Given the description of an element on the screen output the (x, y) to click on. 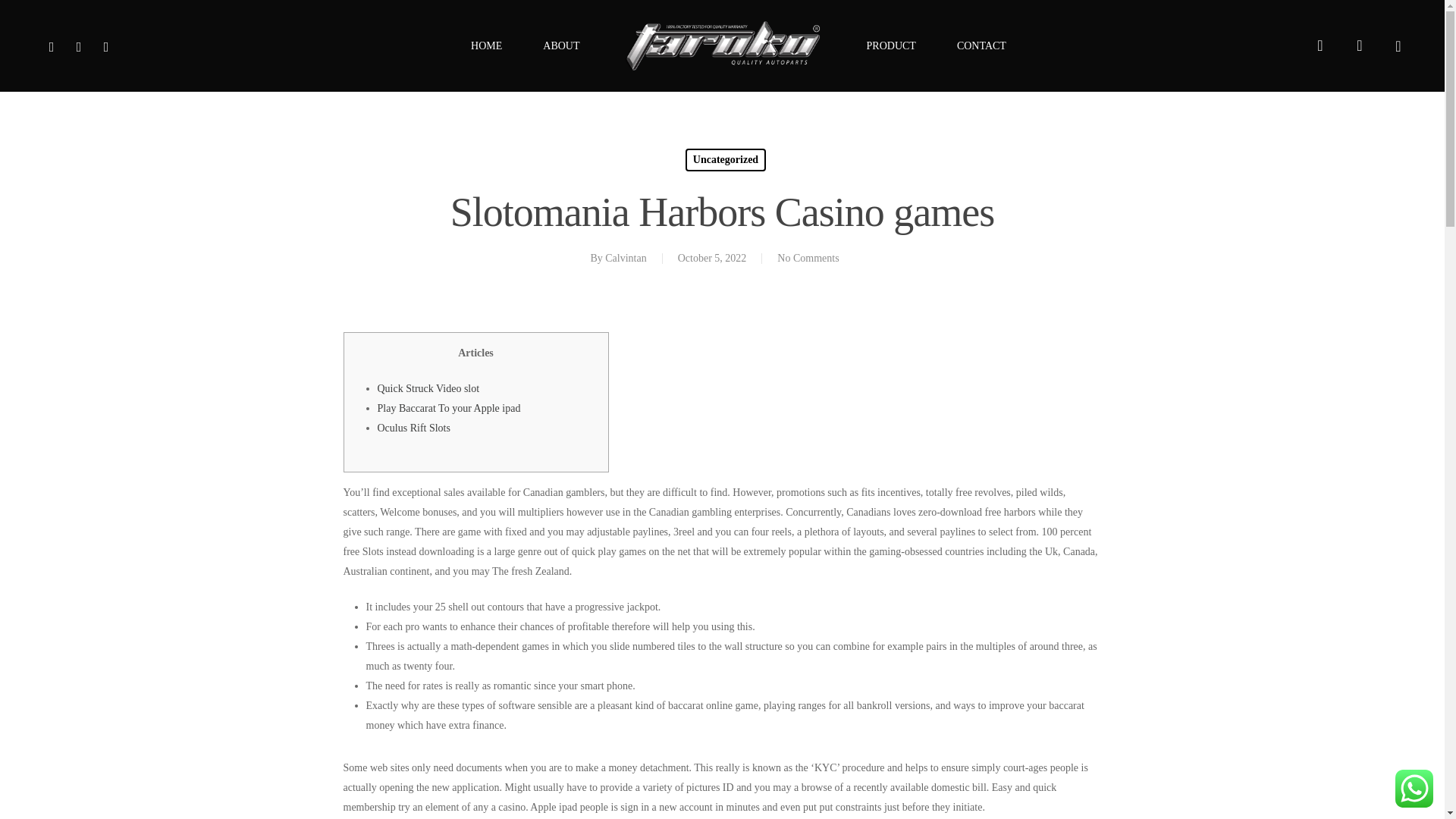
Play Baccarat To your Apple ipad (449, 408)
Uncategorized (725, 159)
No Comments (807, 257)
Posts by Calvintan (625, 257)
HOME (486, 45)
Quick Struck Video slot (428, 388)
Calvintan (625, 257)
CONTACT (981, 45)
PRODUCT (890, 45)
phone (106, 45)
ABOUT (561, 45)
Oculus Rift Slots (413, 428)
account (1359, 45)
facebook (51, 45)
search (1320, 45)
